Given the description of an element on the screen output the (x, y) to click on. 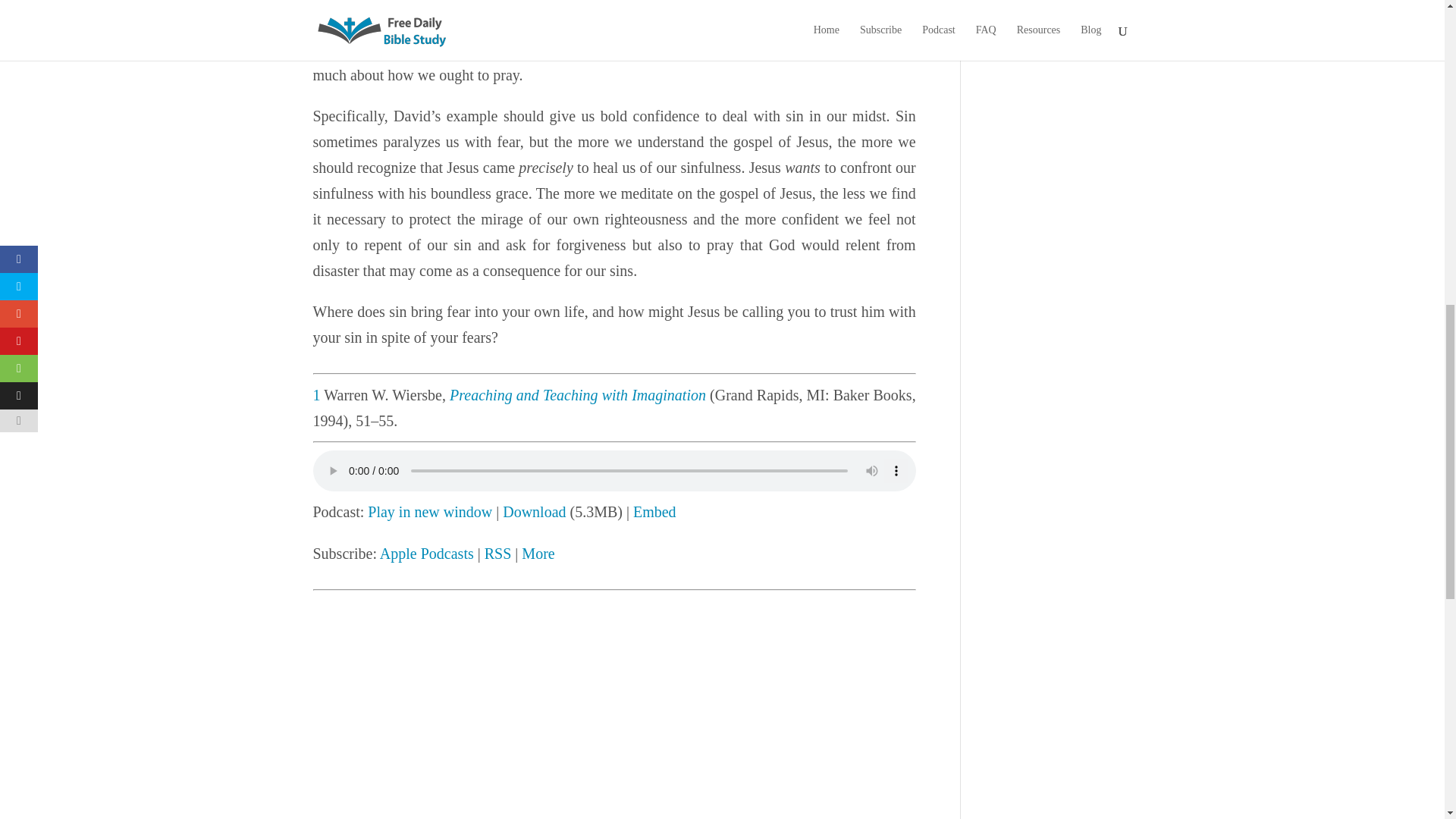
Subscribe on Apple Podcasts (427, 553)
Preaching and Teaching with Imagination (577, 394)
RSS (498, 553)
Download (534, 511)
Subscribe via RSS (498, 553)
Play in new window (430, 511)
More (537, 553)
Apple Podcasts (427, 553)
Download (534, 511)
More (537, 553)
Play in new window (430, 511)
Embed (655, 511)
Embed (655, 511)
